Given the description of an element on the screen output the (x, y) to click on. 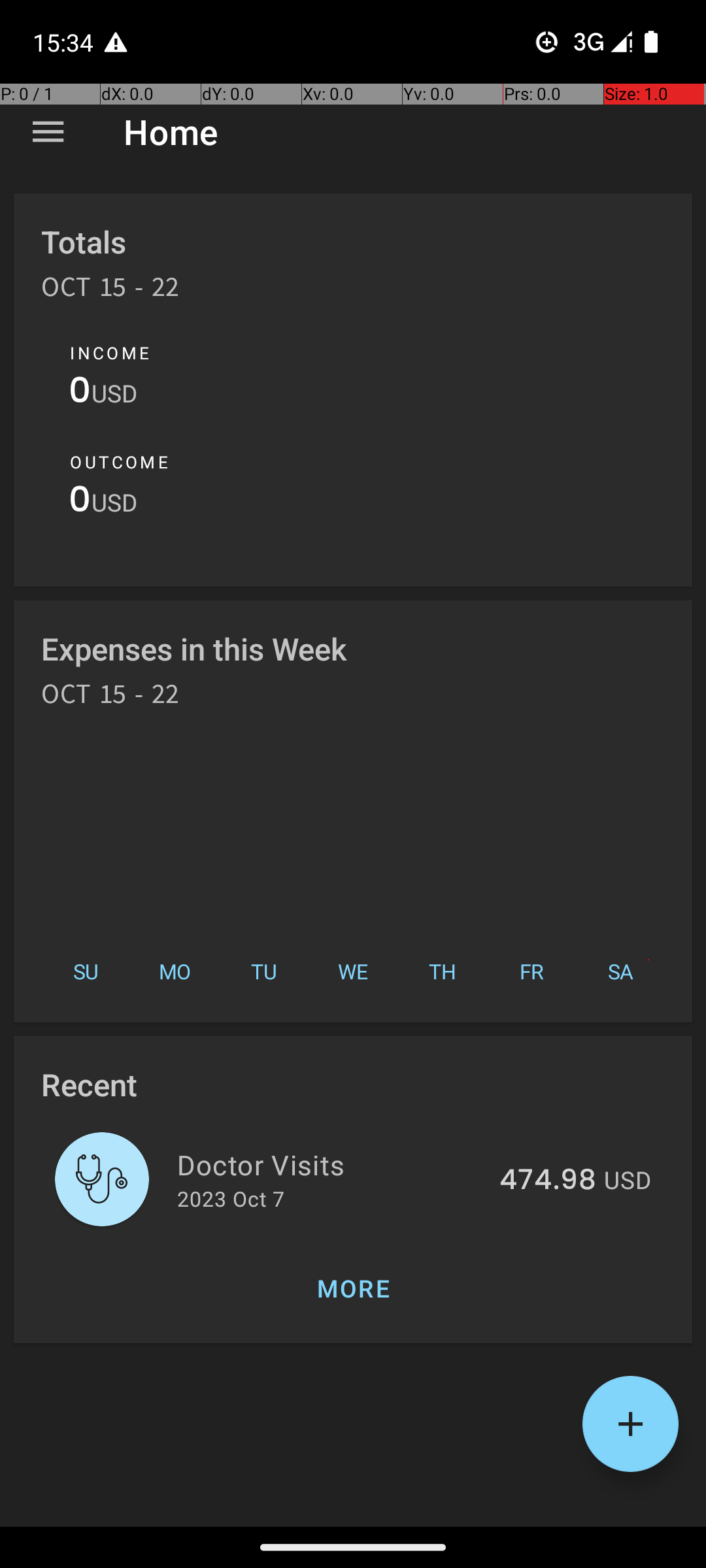
MORE Element type: android.widget.Button (352, 1288)
Doctor Visits Element type: android.widget.TextView (330, 1164)
2023 Oct 7 Element type: android.widget.TextView (230, 1198)
474.98 Element type: android.widget.TextView (547, 1180)
